Given the description of an element on the screen output the (x, y) to click on. 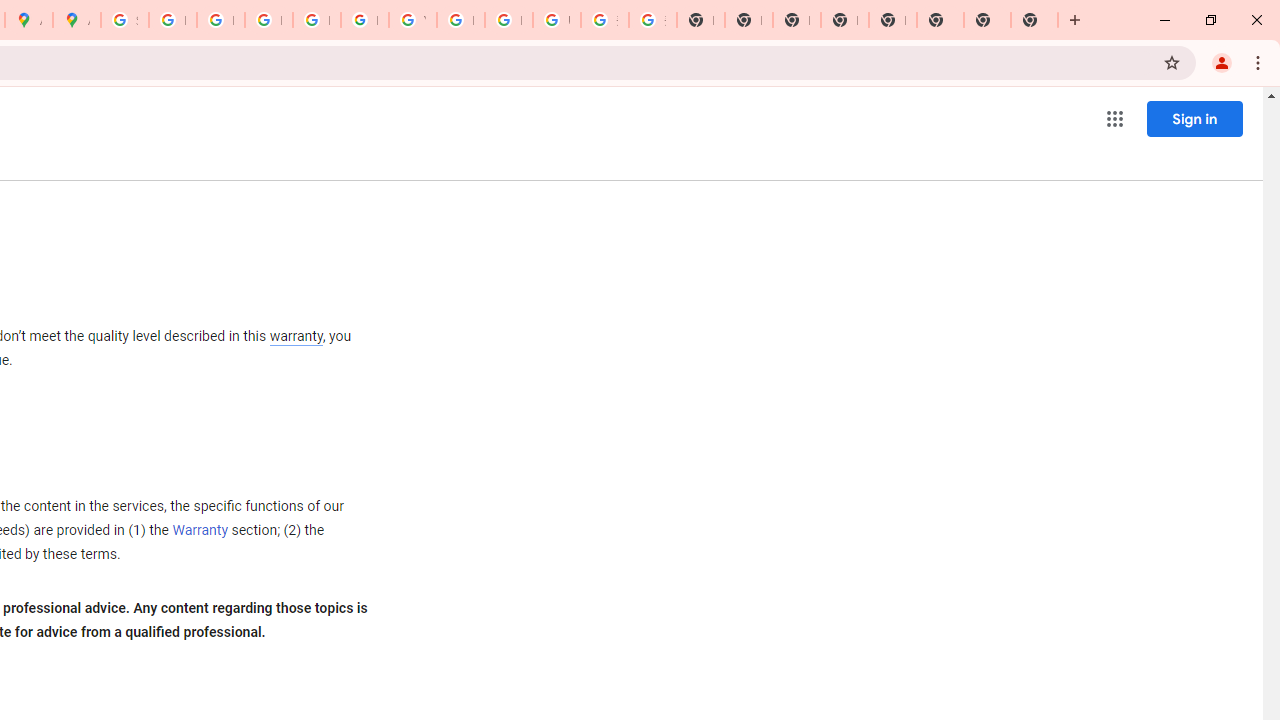
Warranty (200, 531)
warranty (295, 337)
